Given the description of an element on the screen output the (x, y) to click on. 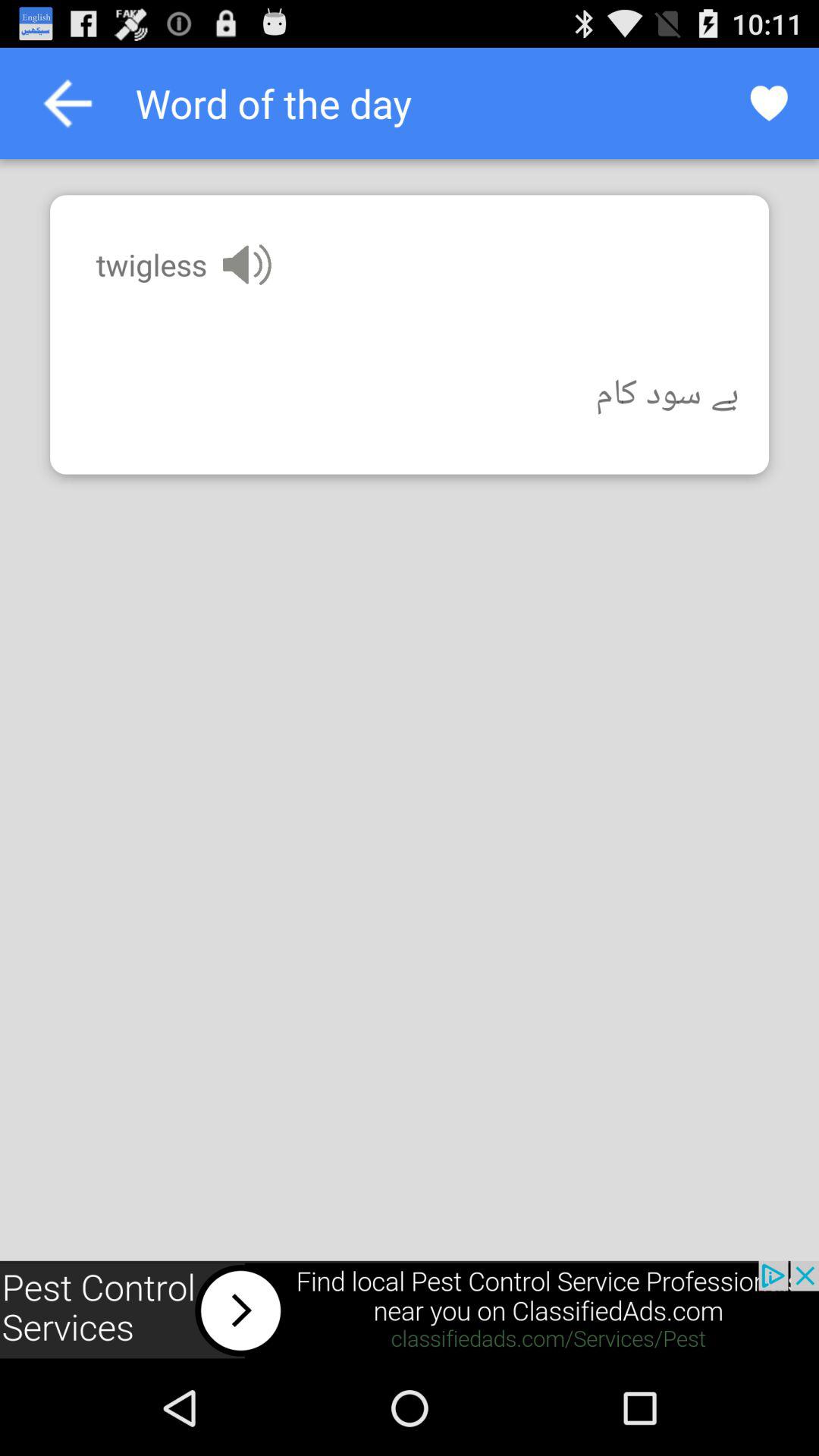
go to next (409, 1310)
